Given the description of an element on the screen output the (x, y) to click on. 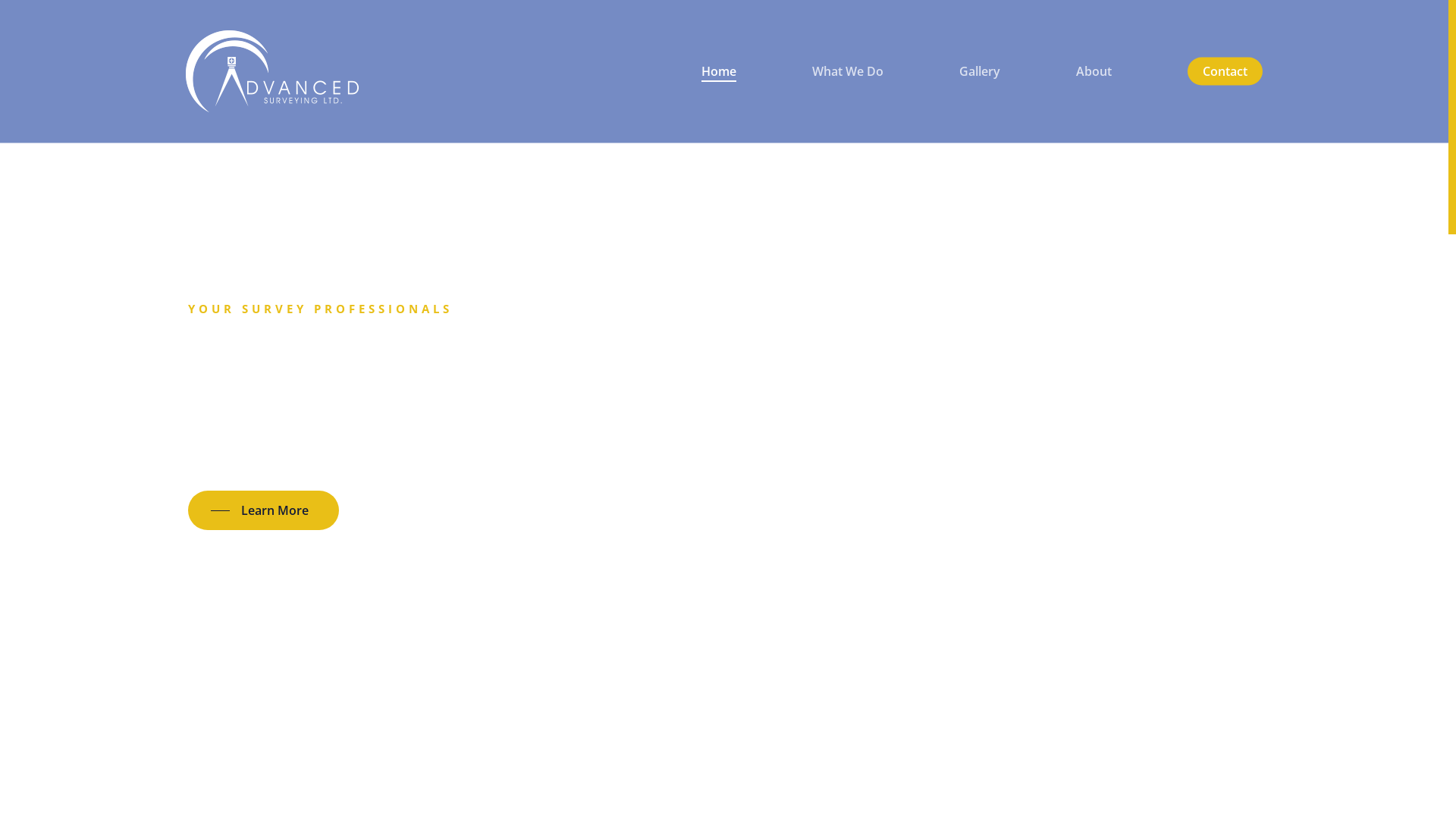
Home Element type: text (718, 70)
What We Do Element type: text (847, 70)
Learn More Element type: text (263, 510)
Contact Element type: text (1224, 70)
About Element type: text (1093, 70)
Gallery Element type: text (979, 70)
